Given the description of an element on the screen output the (x, y) to click on. 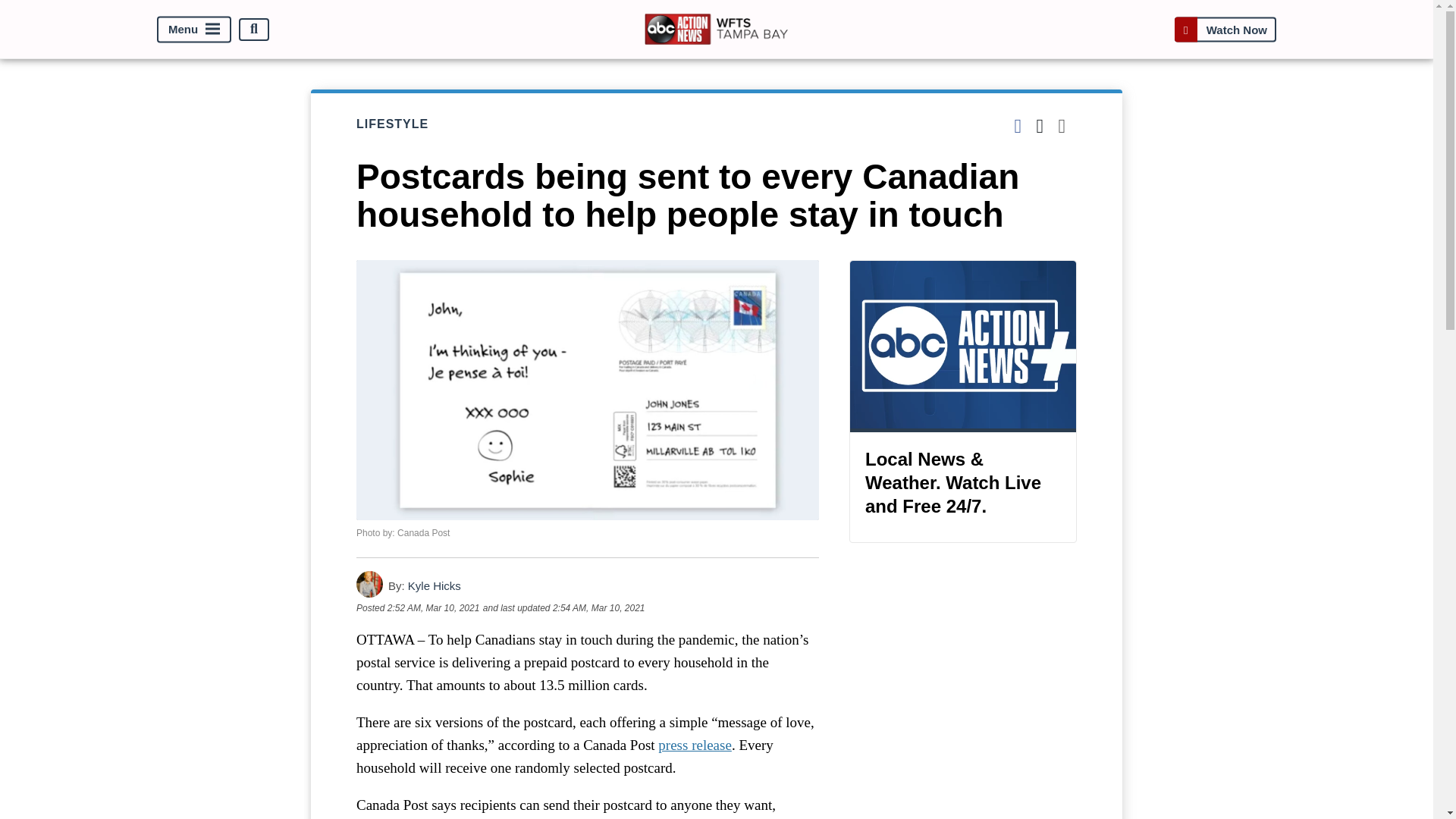
Menu (194, 28)
Watch Now (1224, 29)
